Given the description of an element on the screen output the (x, y) to click on. 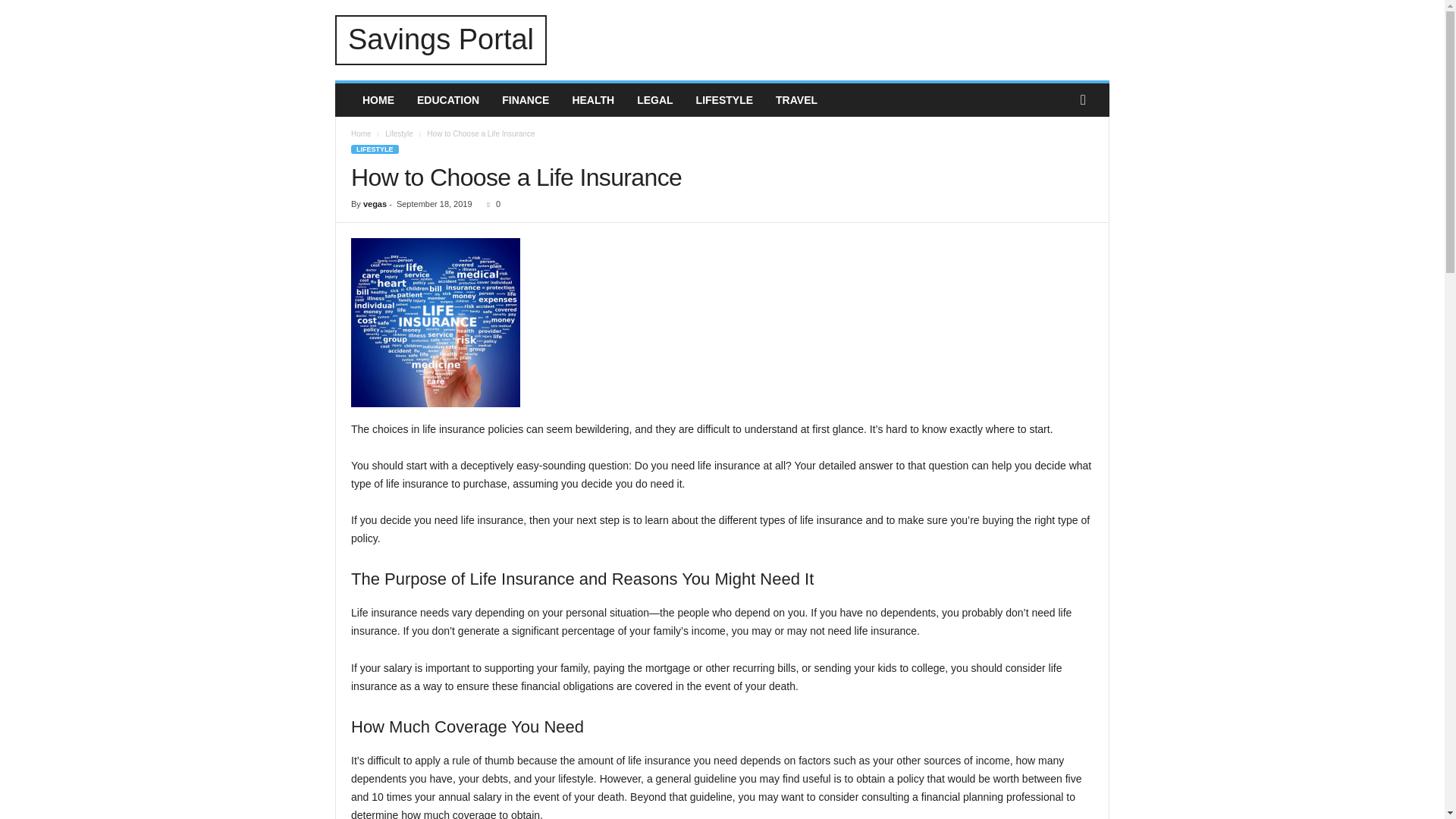
Lifestyle (399, 133)
LIFESTYLE (374, 148)
LEGAL (655, 100)
HEALTH (593, 100)
vegas (374, 203)
View all posts in Lifestyle (399, 133)
HOME (378, 100)
FINANCE (525, 100)
EDUCATION (448, 100)
0 (490, 203)
LIFESTYLE (724, 100)
How to Choose a Life Insurance (434, 322)
Home (360, 133)
Savings Portal (440, 40)
TRAVEL (796, 100)
